Given the description of an element on the screen output the (x, y) to click on. 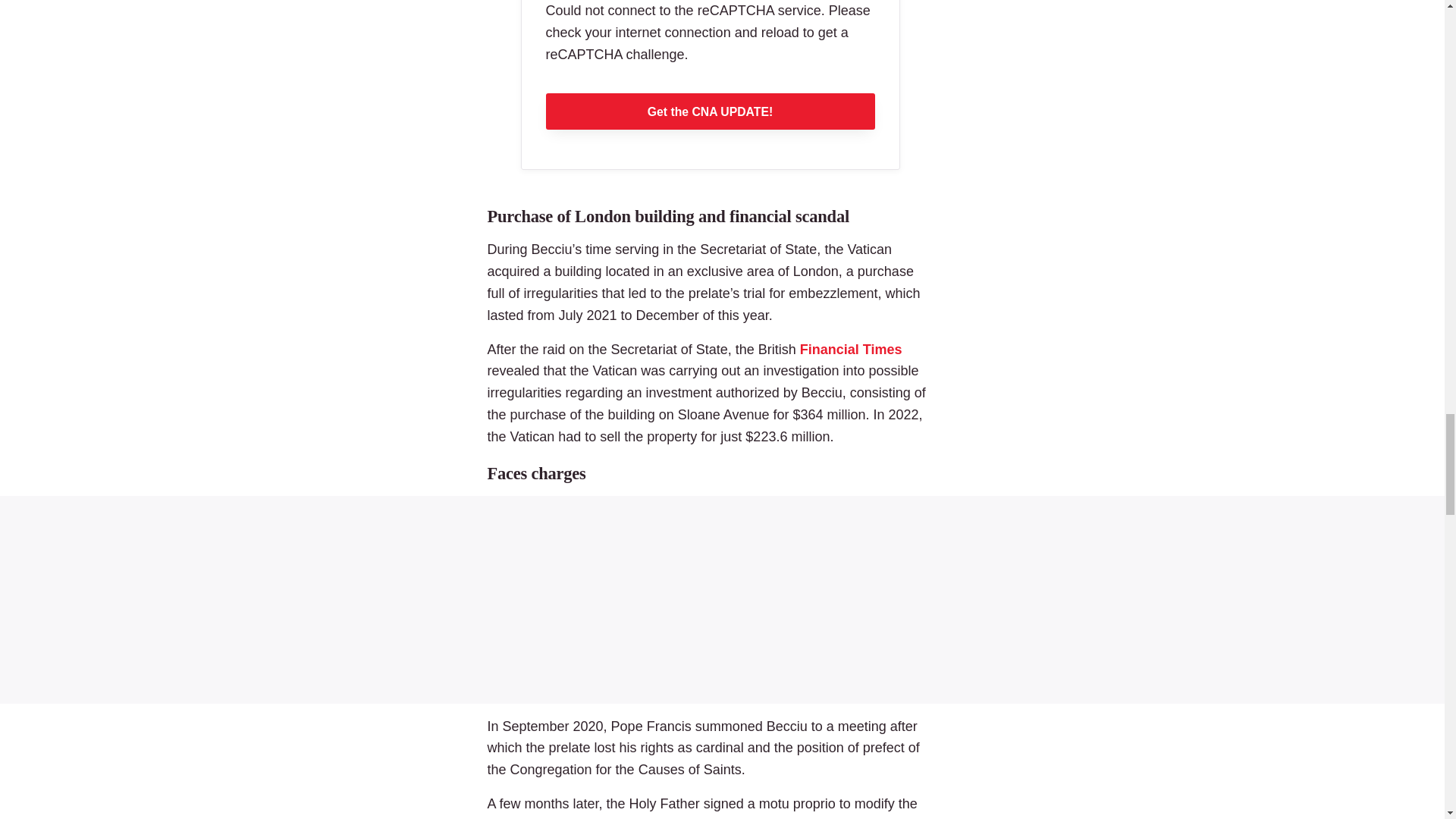
3rd party ad content (721, 599)
Get the CNA UPDATE! (710, 111)
